Given the description of an element on the screen output the (x, y) to click on. 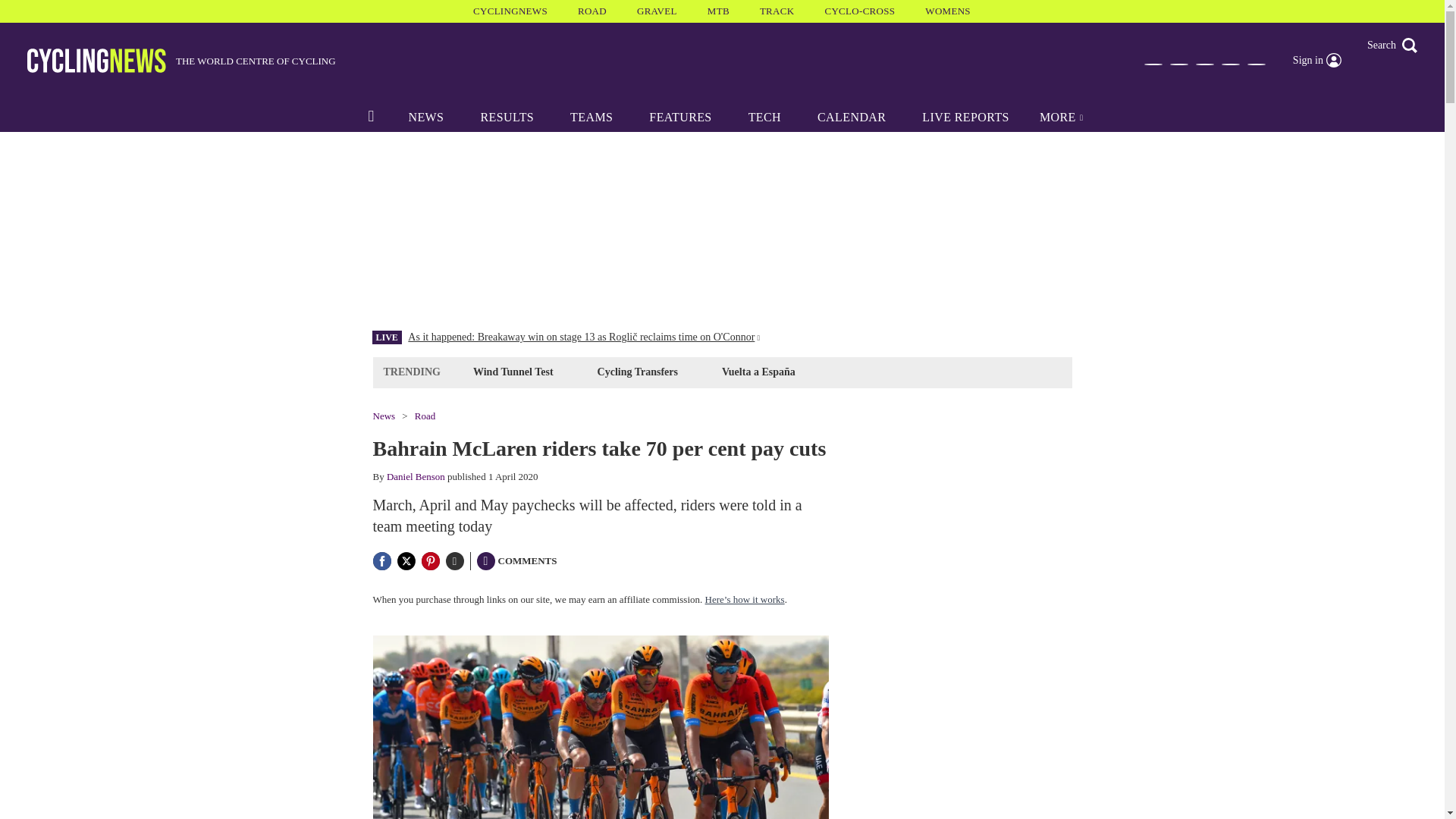
MTB (718, 10)
TEAMS (590, 117)
ROAD (592, 10)
NEWS (425, 117)
WOMENS (947, 10)
TRACK (777, 10)
CYCLINGNEWS (510, 10)
GRAVEL (657, 10)
TECH (764, 117)
LIVE REPORTS (965, 117)
